Given the description of an element on the screen output the (x, y) to click on. 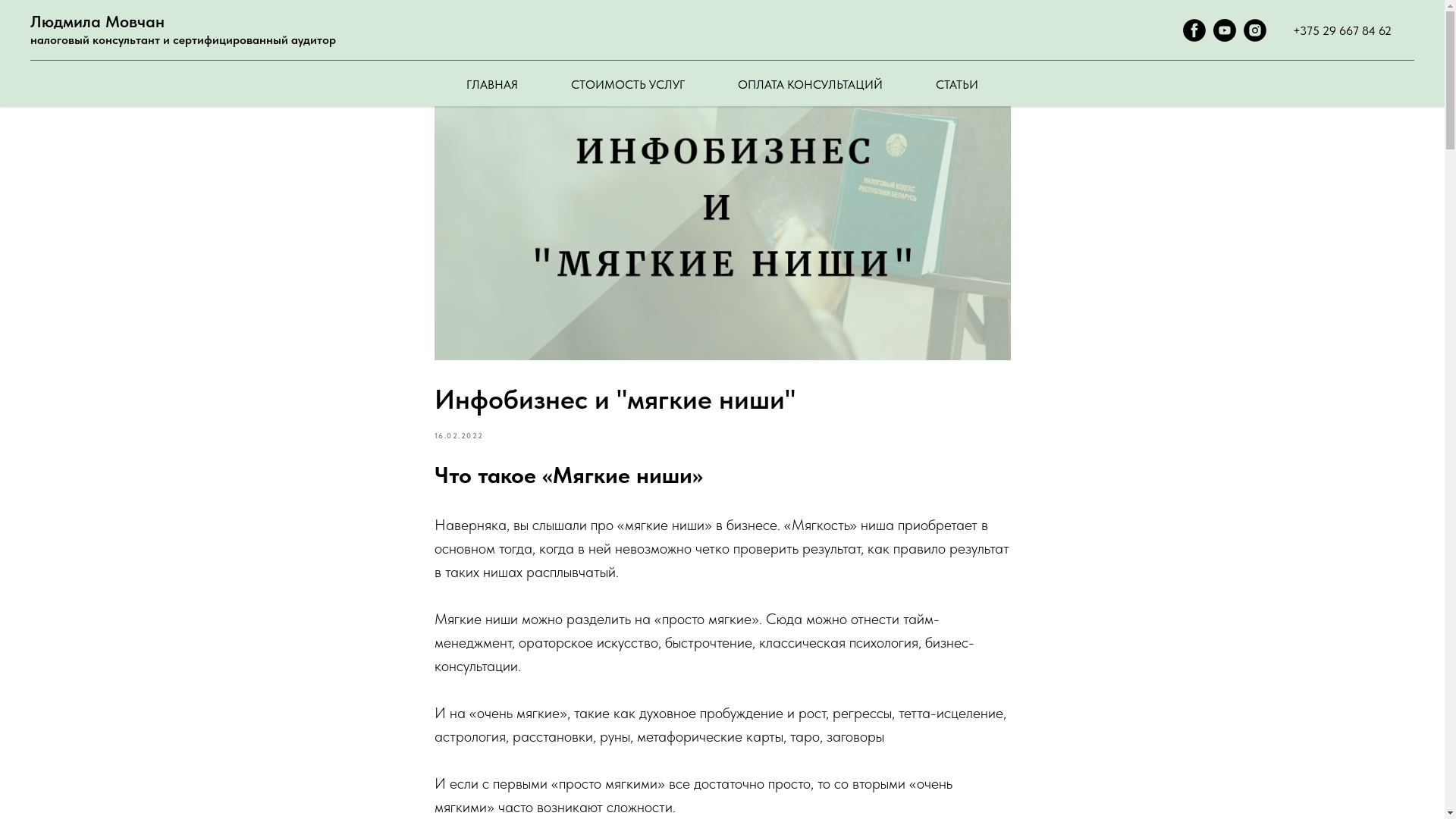
Facebook Element type: text (1194, 37)
Youtube Element type: text (1224, 37)
Instagram Element type: text (1254, 37)
